Given the description of an element on the screen output the (x, y) to click on. 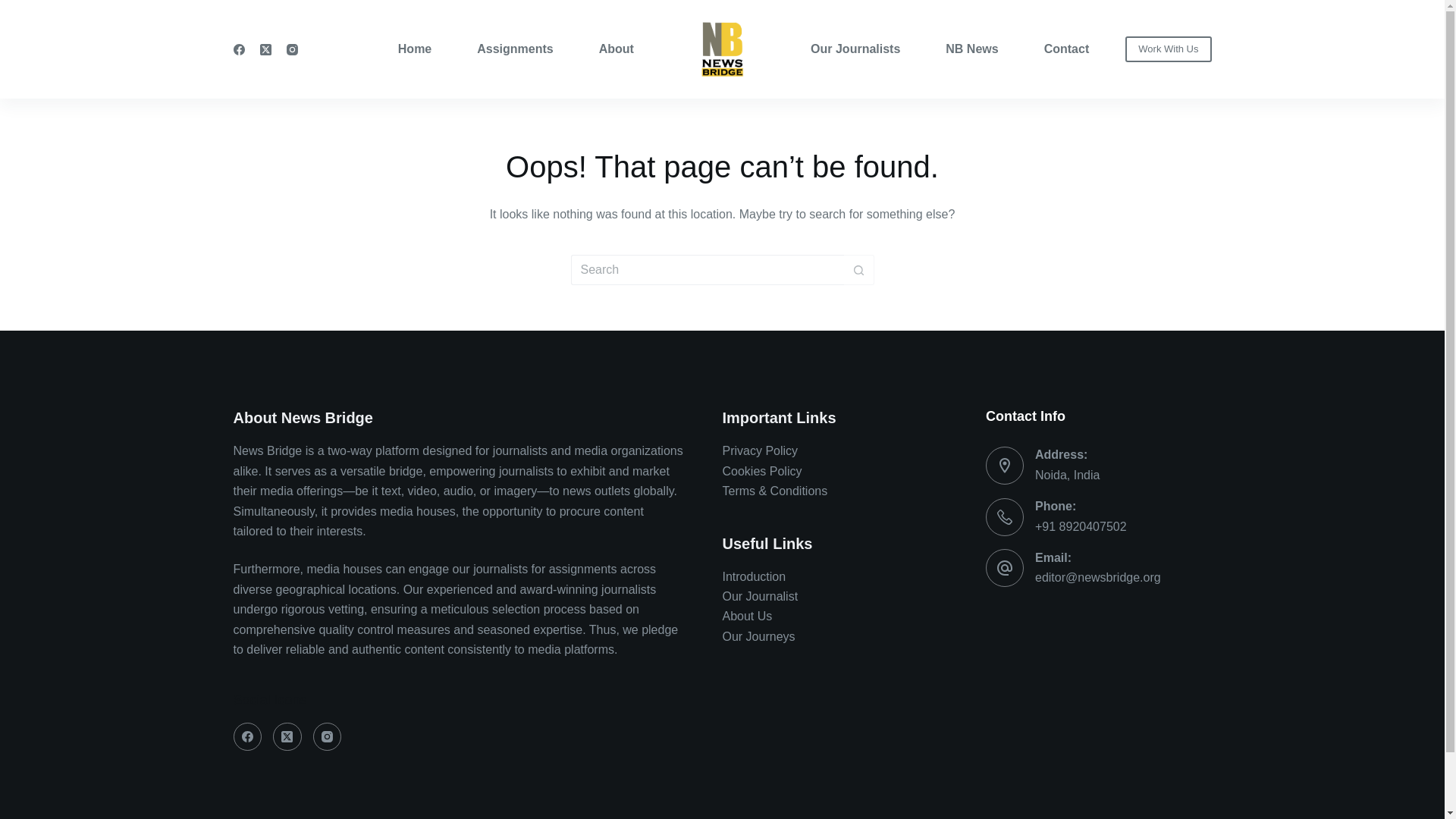
Skip to content (15, 7)
Introduction (754, 576)
Privacy Policy (759, 450)
Our Journeys (758, 635)
Our Journalists (866, 49)
About Us (746, 615)
Search for... (706, 269)
Assignments (514, 49)
Our Journalist (759, 595)
Cookies Policy (762, 471)
NB News (971, 49)
Work With Us (1168, 49)
